Given the description of an element on the screen output the (x, y) to click on. 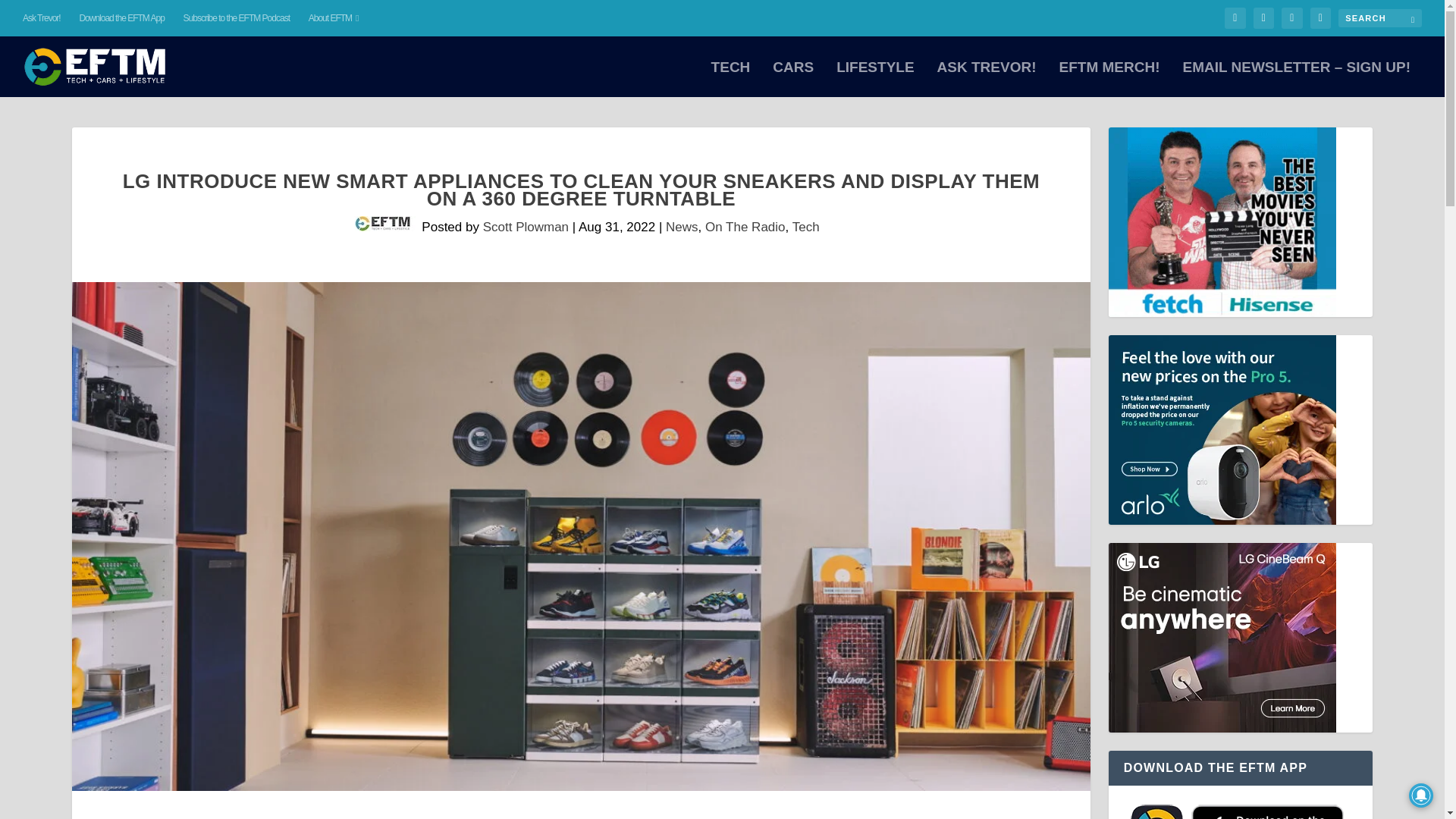
ASK TREVOR! (986, 79)
About EFTM (333, 18)
Search for: (1380, 18)
Subscribe to the EFTM Podcast (236, 18)
CARS (793, 79)
EFTM MERCH! (1108, 79)
LIFESTYLE (874, 79)
TECH (731, 79)
Download the EFTM App (120, 18)
Posts by Scott Plowman (526, 227)
Ask Trevor! (42, 18)
